Given the description of an element on the screen output the (x, y) to click on. 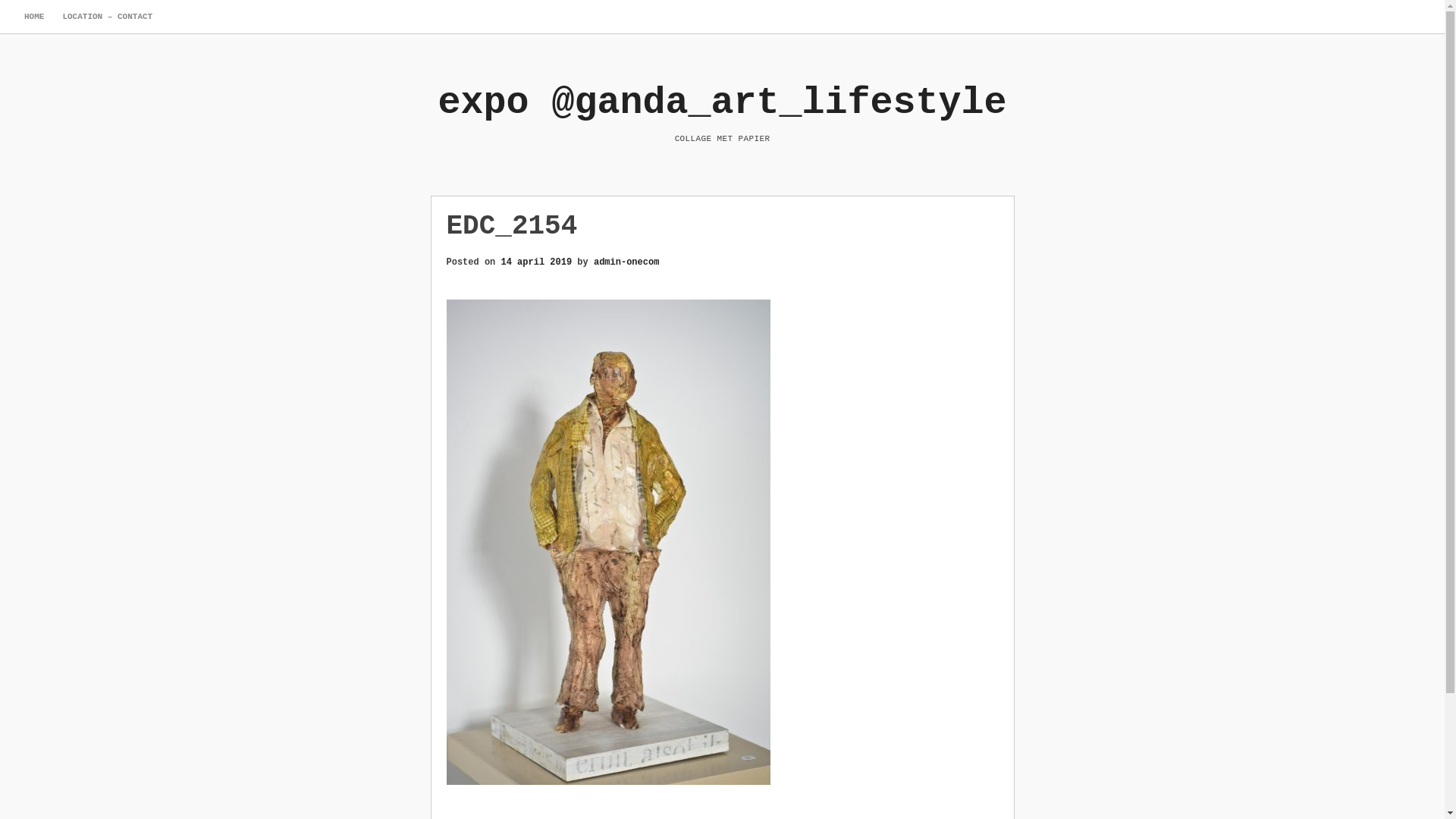
HOME Element type: text (34, 17)
admin-onecom Element type: text (625, 261)
14 april 2019 Element type: text (536, 261)
expo @ganda_art_lifestyle Element type: text (721, 101)
